Given the description of an element on the screen output the (x, y) to click on. 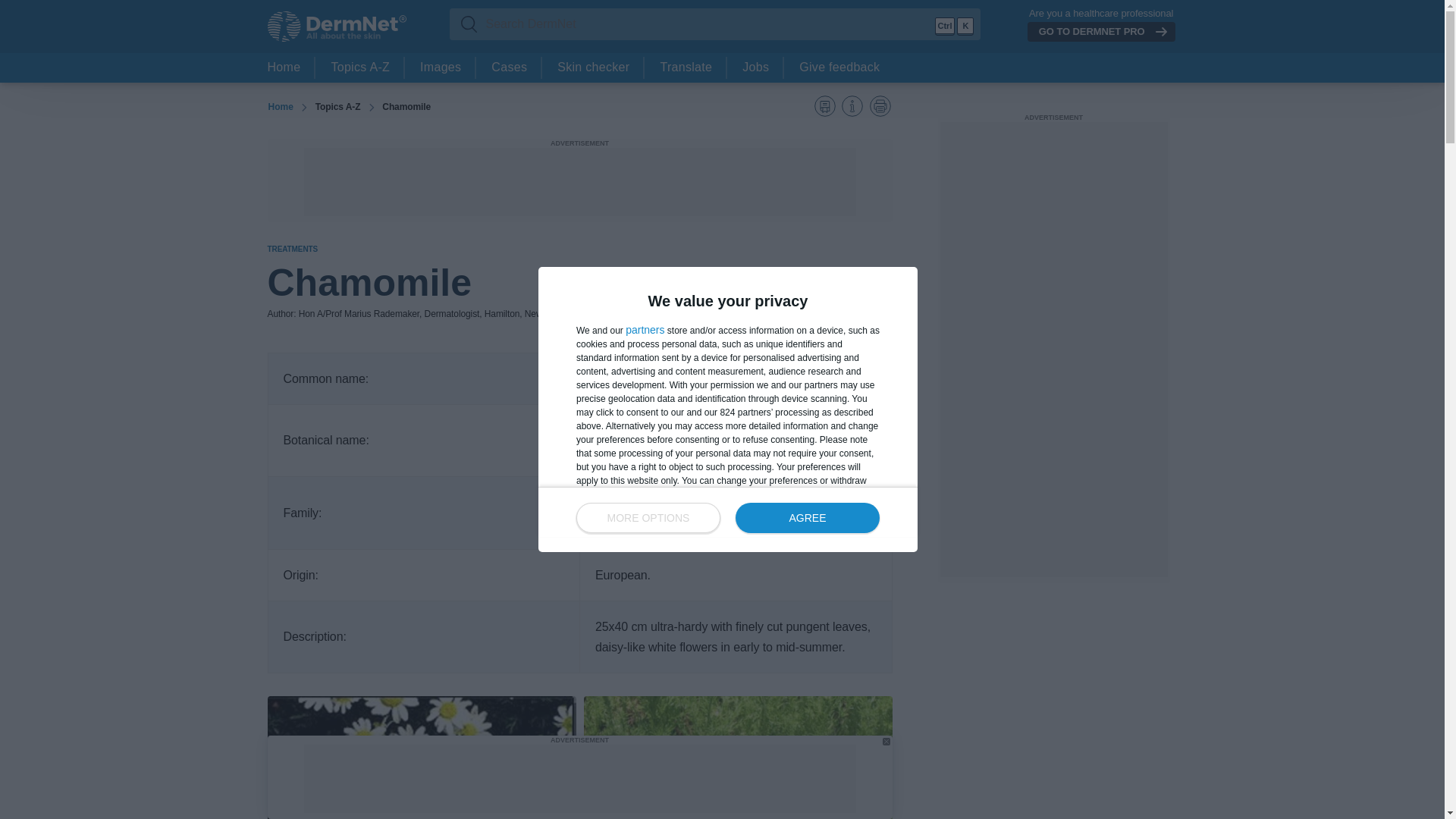
Jobs (755, 67)
Translate (685, 67)
MORE OPTIONS (648, 517)
Topics A-Z (337, 106)
Give feedback (839, 67)
Home (280, 106)
AGREE (807, 517)
partners (644, 329)
DermNet (336, 26)
Home (283, 67)
Topics A-Z (359, 67)
GO TO DERMNET PRO (1100, 31)
Print this page (879, 105)
Toggle glossary items (824, 105)
Cases (508, 67)
